Given the description of an element on the screen output the (x, y) to click on. 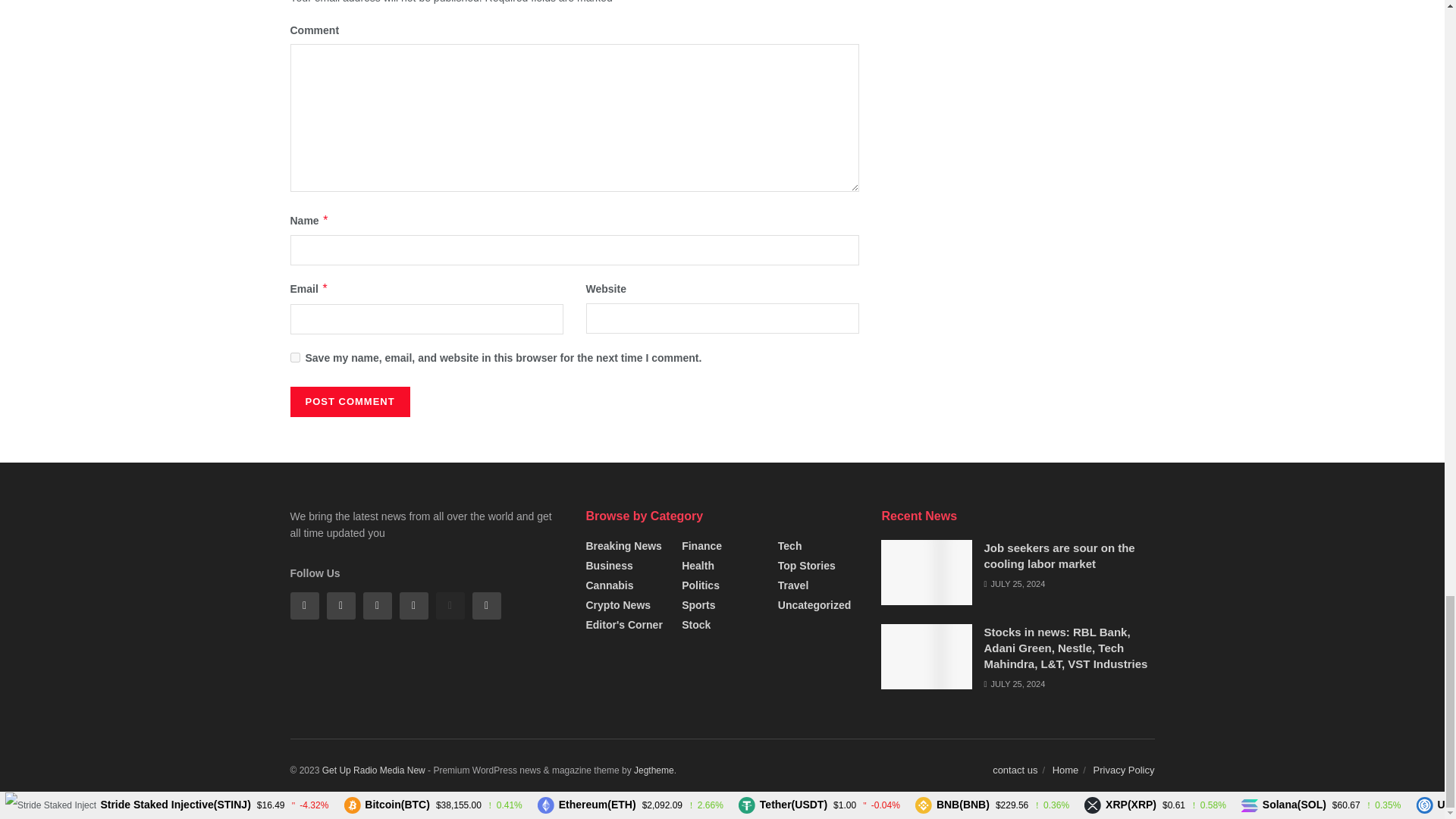
yes (294, 357)
Post Comment (349, 401)
